Given the description of an element on the screen output the (x, y) to click on. 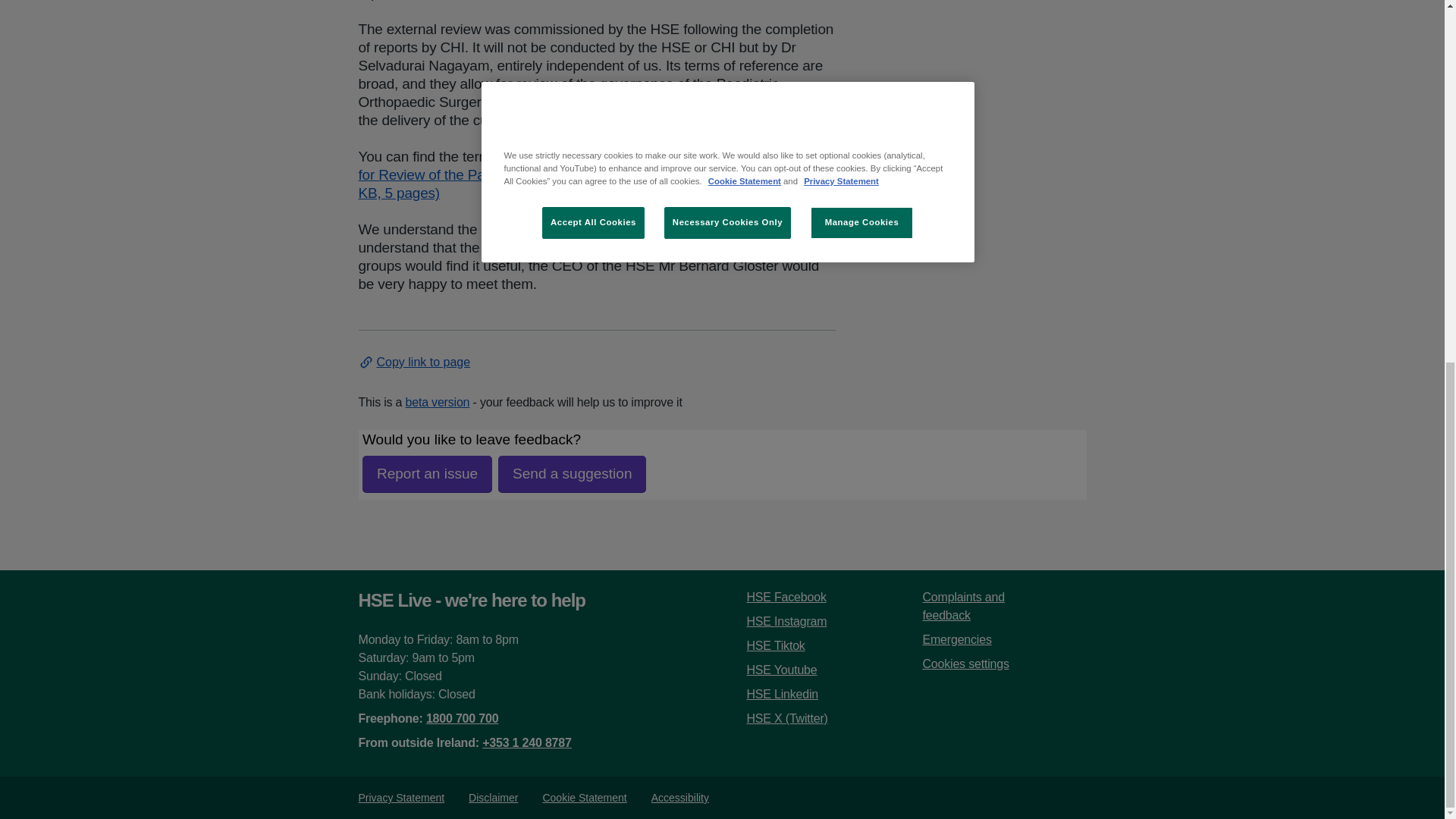
Copy link to page (414, 362)
HSE Tiktok (775, 645)
Cookie Statement (583, 797)
1800 700 700 (461, 717)
Emergencies (956, 639)
HSE Linkedin (781, 694)
HSE Instagram (786, 621)
HSE Youtube (780, 669)
beta version (438, 401)
Privacy Statement (401, 797)
